Given the description of an element on the screen output the (x, y) to click on. 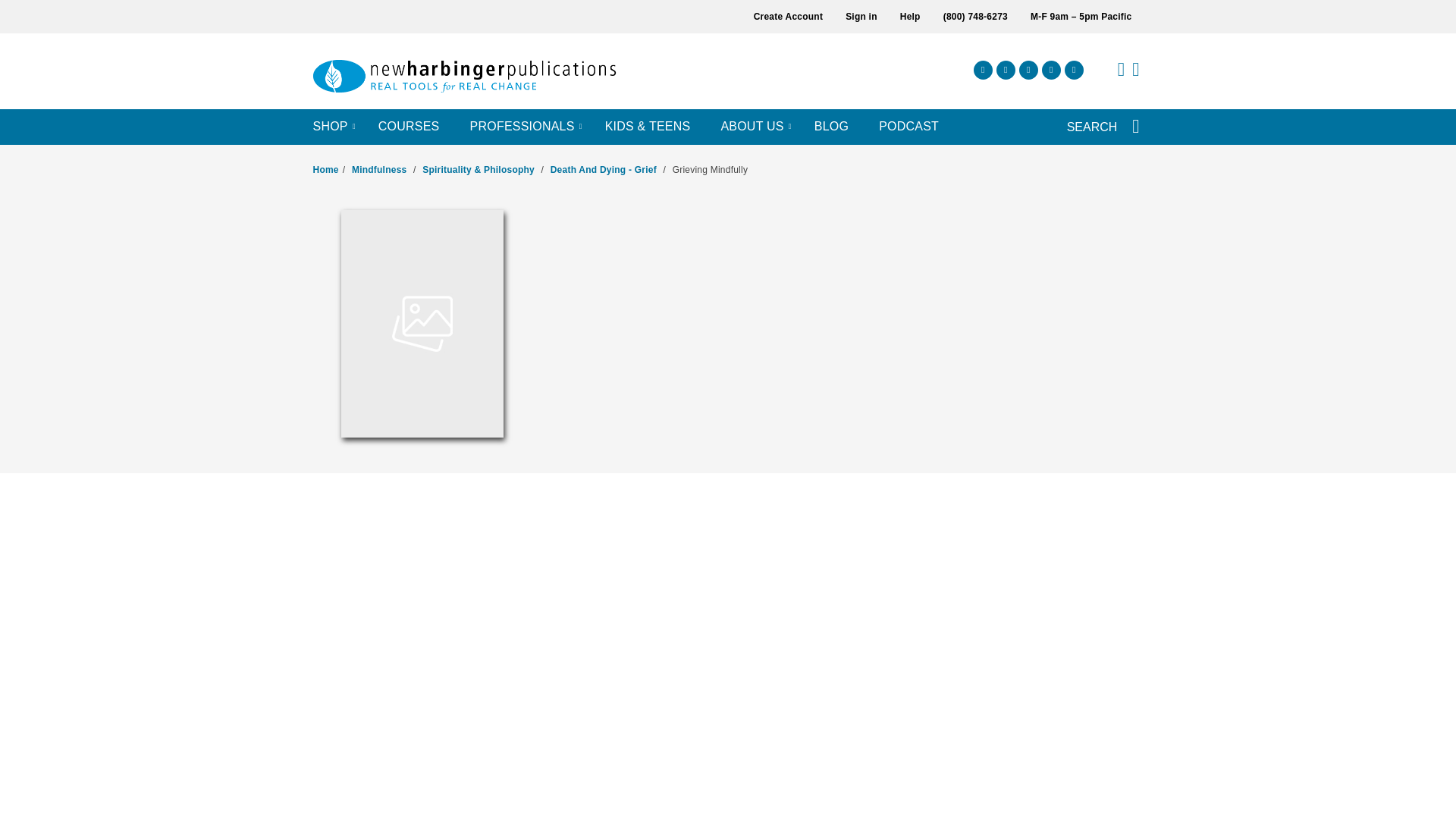
Back to homepage (325, 169)
Follow us on Instagram (1004, 69)
Follow us on Facebook (983, 69)
PROFESSIONALS (522, 126)
Follow us on YouTube (1073, 69)
COURSES (408, 126)
Sign in (860, 16)
Help (910, 16)
View results for Mindfulness (379, 169)
Follow us on LinkedIn (1051, 69)
